Given the description of an element on the screen output the (x, y) to click on. 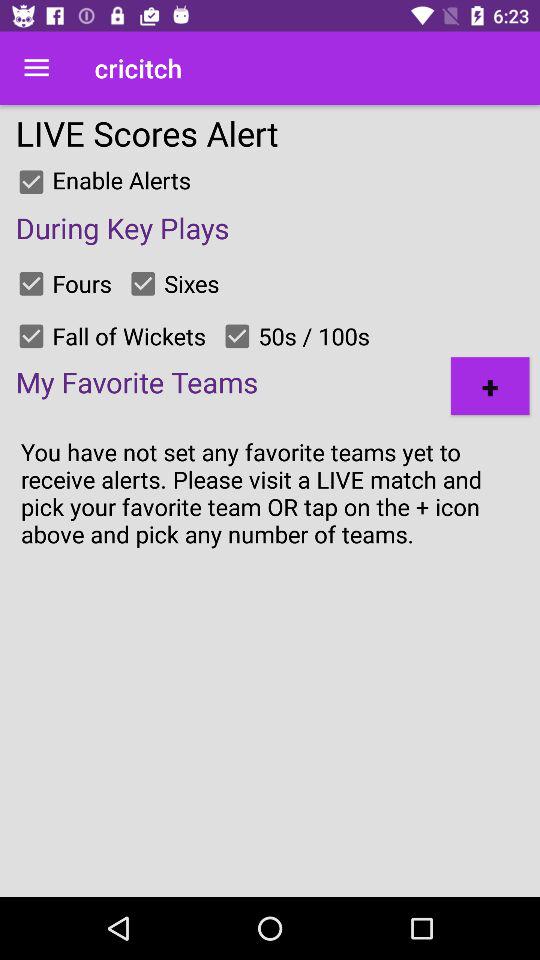
tap the icon to the left of cricitch (36, 68)
